Given the description of an element on the screen output the (x, y) to click on. 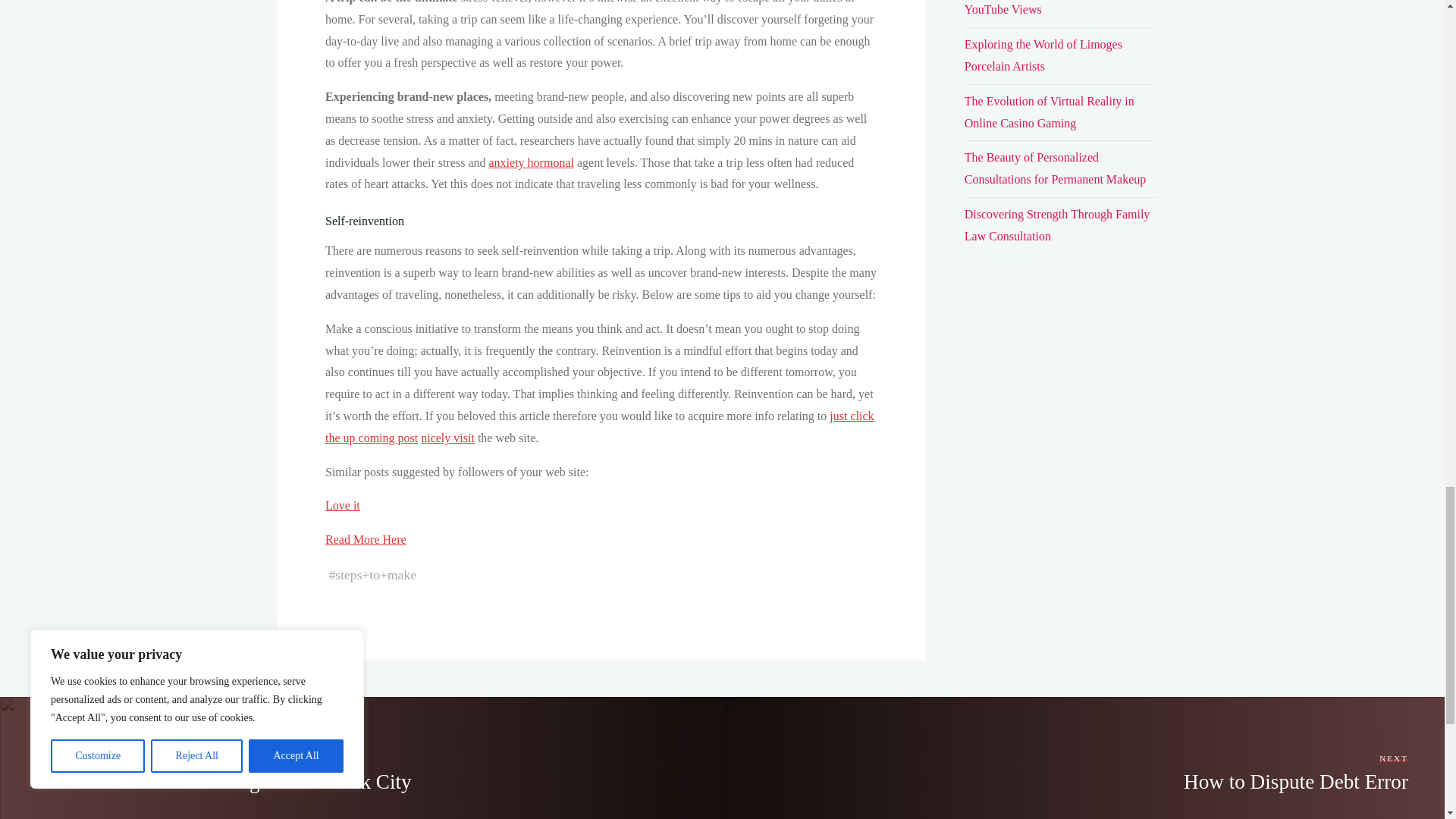
anxiety hormonal (530, 162)
Love it (341, 504)
nicely visit (447, 437)
just click the up coming post (598, 426)
Read More Here (365, 539)
